Given the description of an element on the screen output the (x, y) to click on. 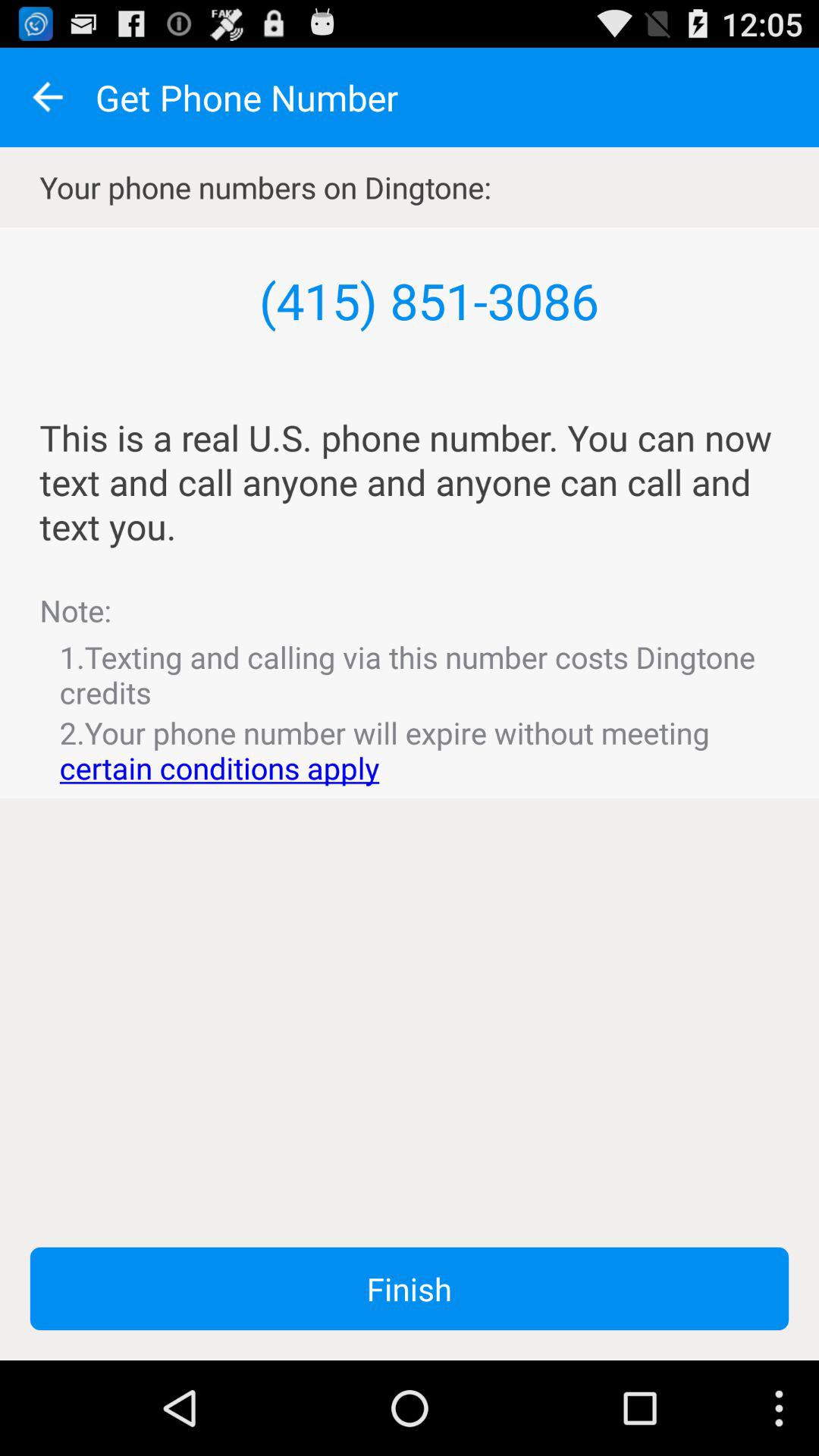
select 2 your phone (409, 750)
